Given the description of an element on the screen output the (x, y) to click on. 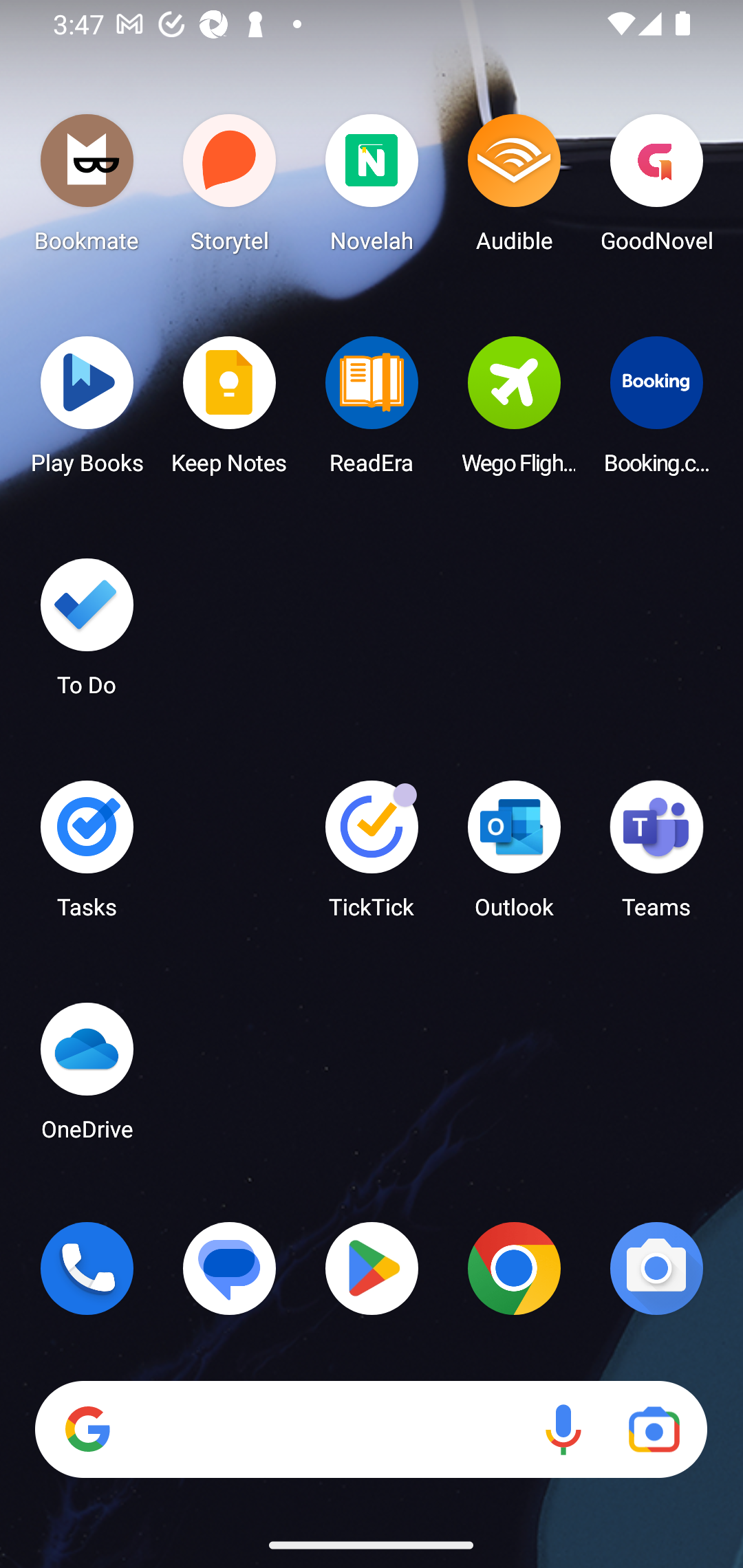
Bookmate (86, 188)
Storytel (229, 188)
Novelah (371, 188)
Audible (513, 188)
GoodNovel (656, 188)
Play Books (86, 410)
Keep Notes (229, 410)
ReadEra (371, 410)
Wego Flights & Hotels (513, 410)
Booking.com (656, 410)
To Do (86, 633)
Tasks (86, 854)
TickTick TickTick has 3 notifications (371, 854)
Outlook (513, 854)
Teams (656, 854)
OneDrive (86, 1076)
Phone (86, 1268)
Messages (229, 1268)
Play Store (371, 1268)
Chrome (513, 1268)
Camera (656, 1268)
Search Voice search Google Lens (370, 1429)
Voice search (562, 1429)
Google Lens (653, 1429)
